Given the description of an element on the screen output the (x, y) to click on. 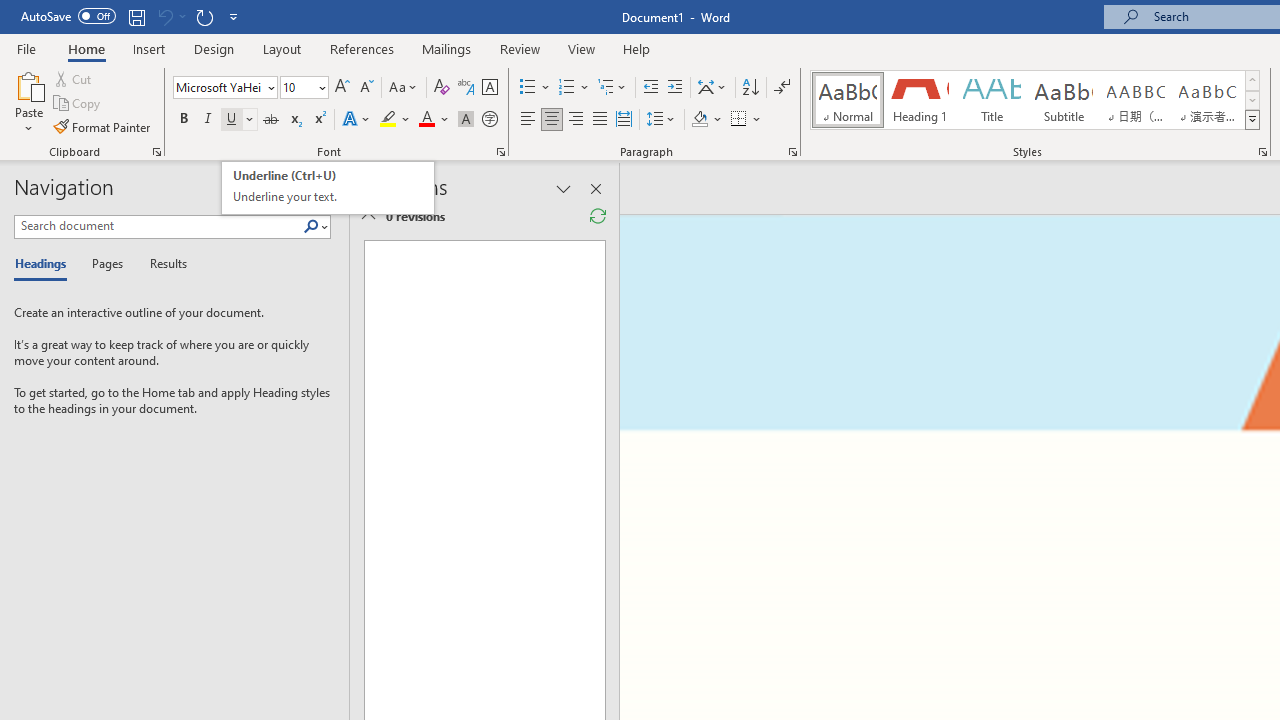
Show Detailed Summary (368, 215)
Font Color Red (426, 119)
